Given the description of an element on the screen output the (x, y) to click on. 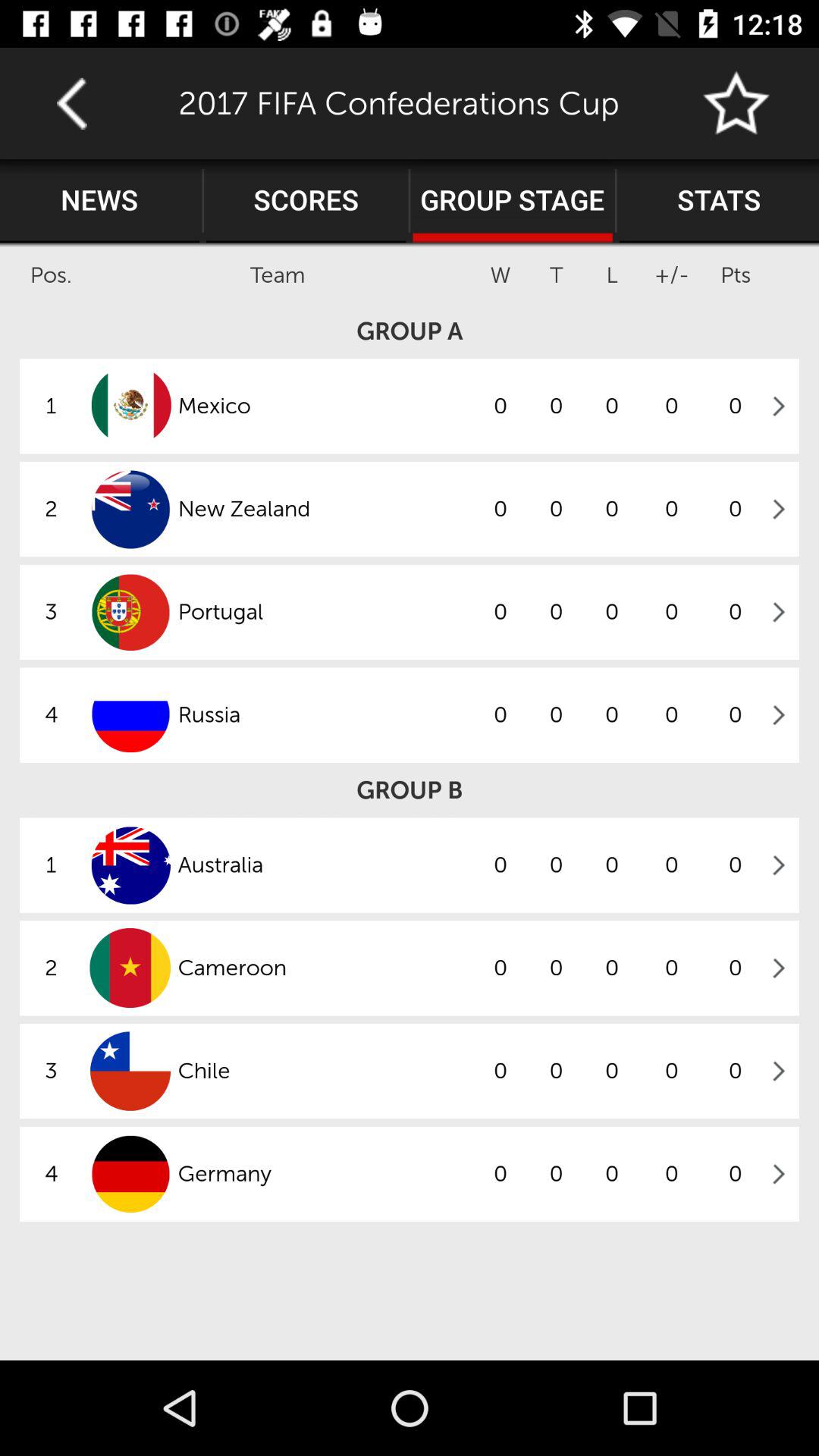
turn on the icon above the pos. icon (99, 200)
